Given the description of an element on the screen output the (x, y) to click on. 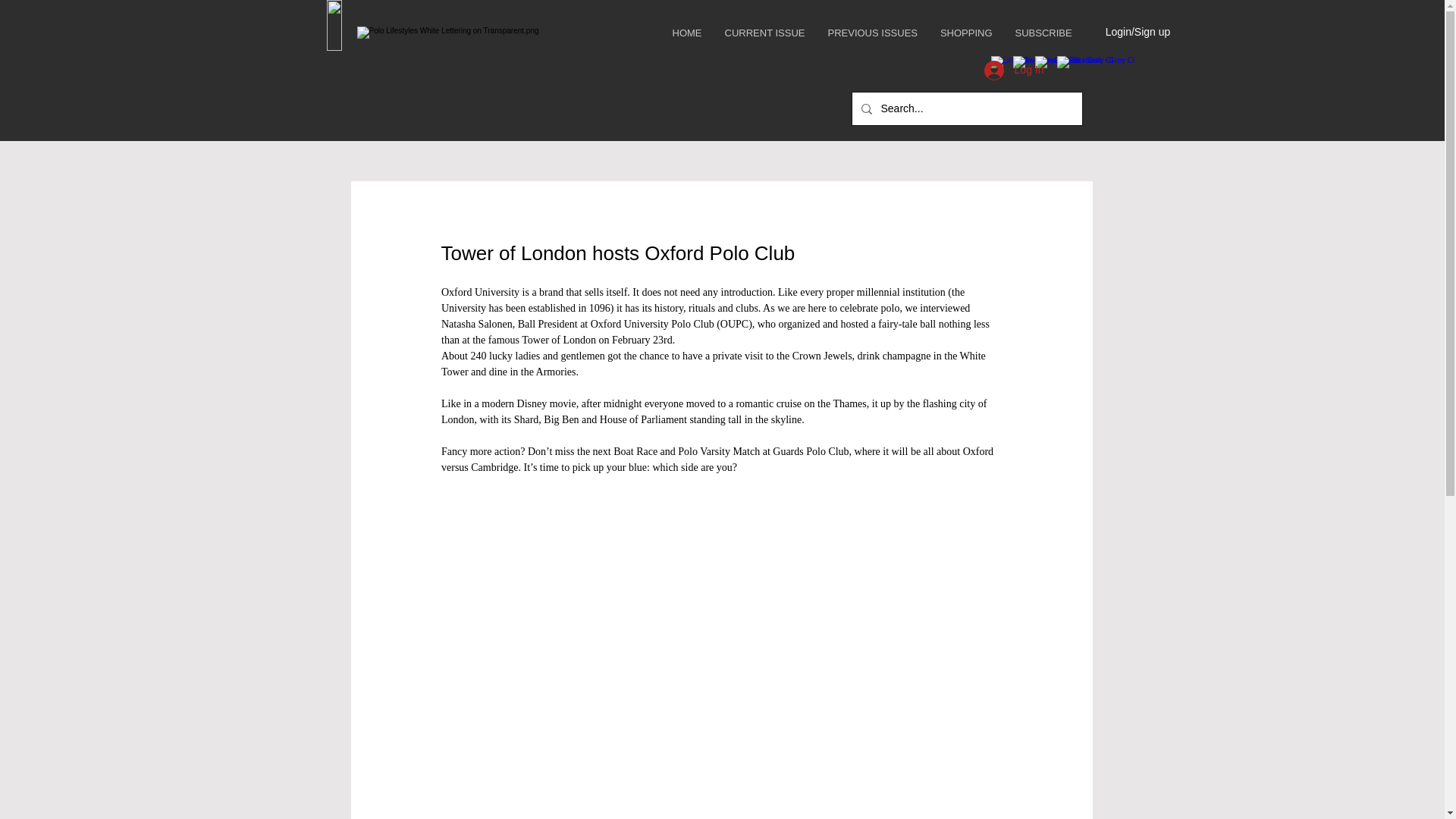
CURRENT ISSUE (764, 33)
HOME (687, 33)
PREVIOUS ISSUES (871, 33)
SUBSCRIBE (1043, 33)
SHOPPING (965, 33)
Log In (1014, 70)
